Given the description of an element on the screen output the (x, y) to click on. 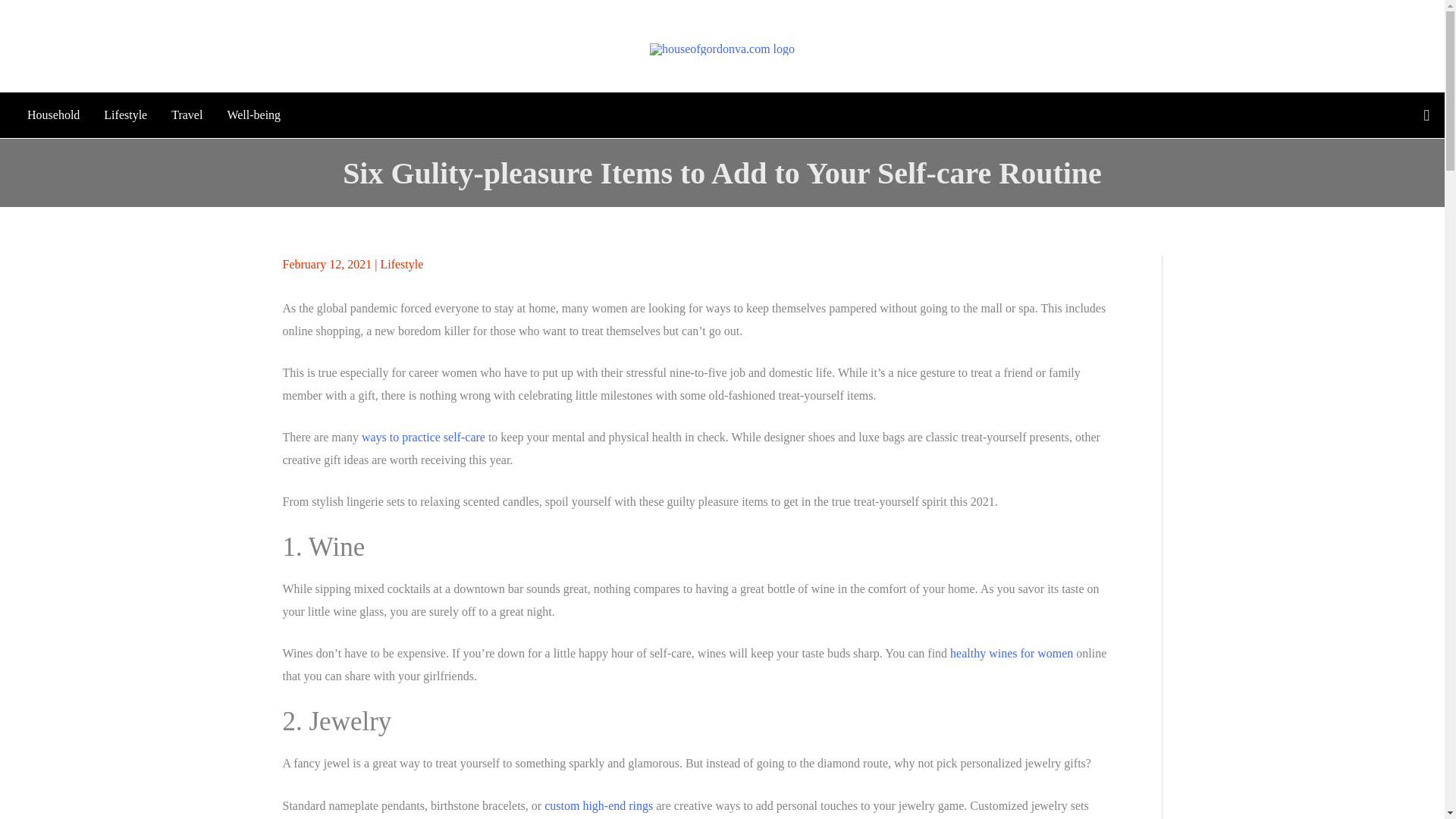
Lifestyle (124, 115)
healthy wines for women (1011, 653)
Well-being (253, 115)
Household (52, 115)
custom high-end rings (598, 805)
Travel (186, 115)
Lifestyle (401, 264)
ways to practice self-care (422, 436)
